Given the description of an element on the screen output the (x, y) to click on. 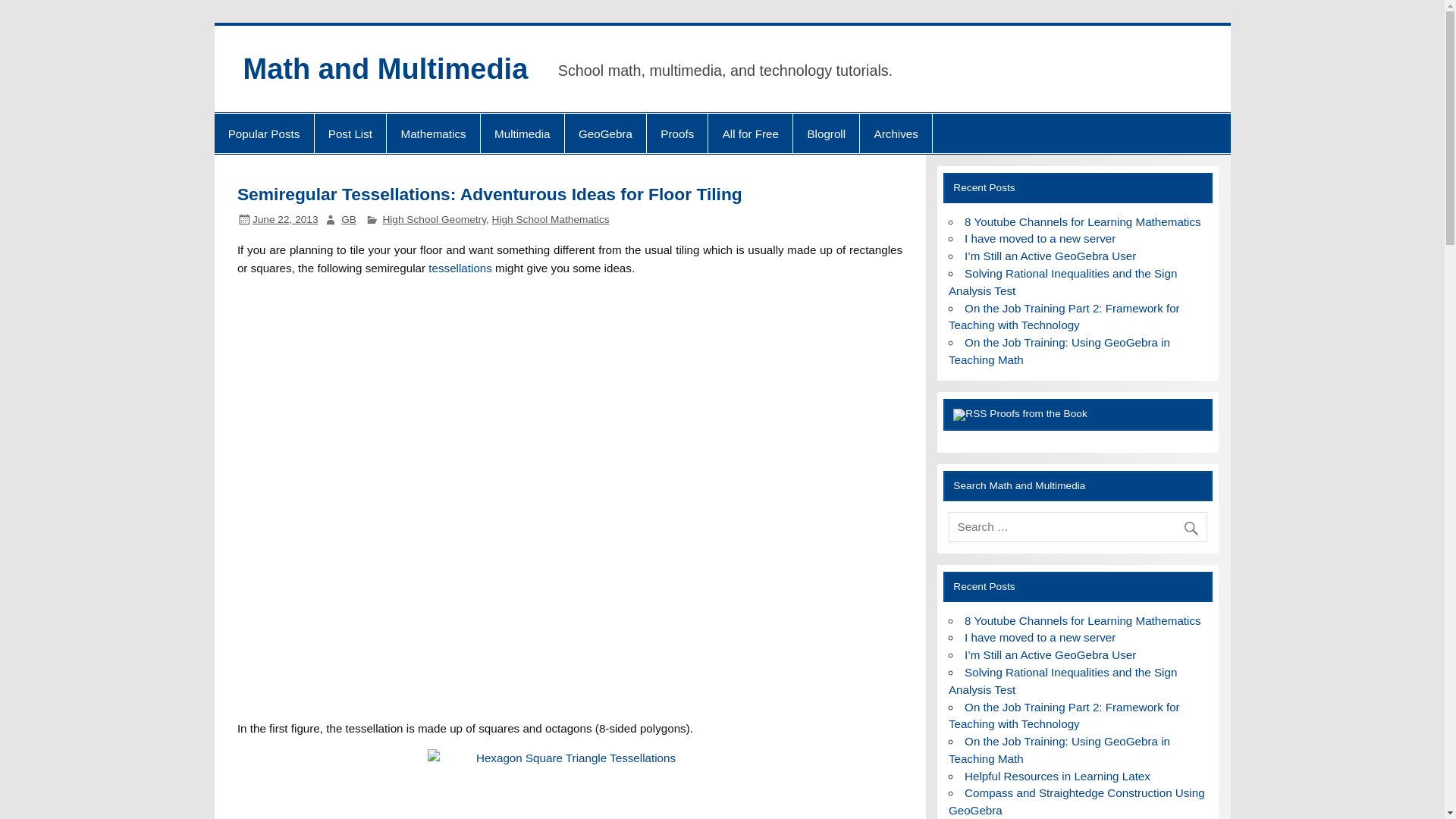
Multimedia (522, 133)
Octagon Square Tessellation (569, 608)
I have moved to a new server (1039, 237)
Post List (350, 133)
View all posts by GB (348, 219)
GeoGebra (605, 133)
Math and Multimedia (385, 69)
Archives (895, 133)
June 22, 2013 (284, 219)
Solving Rational Inequalities and the Sign Analysis Test (1063, 281)
GB (348, 219)
6:49 am (284, 219)
On the Job Training: Using GeoGebra in Teaching Math (1059, 350)
